Given the description of an element on the screen output the (x, y) to click on. 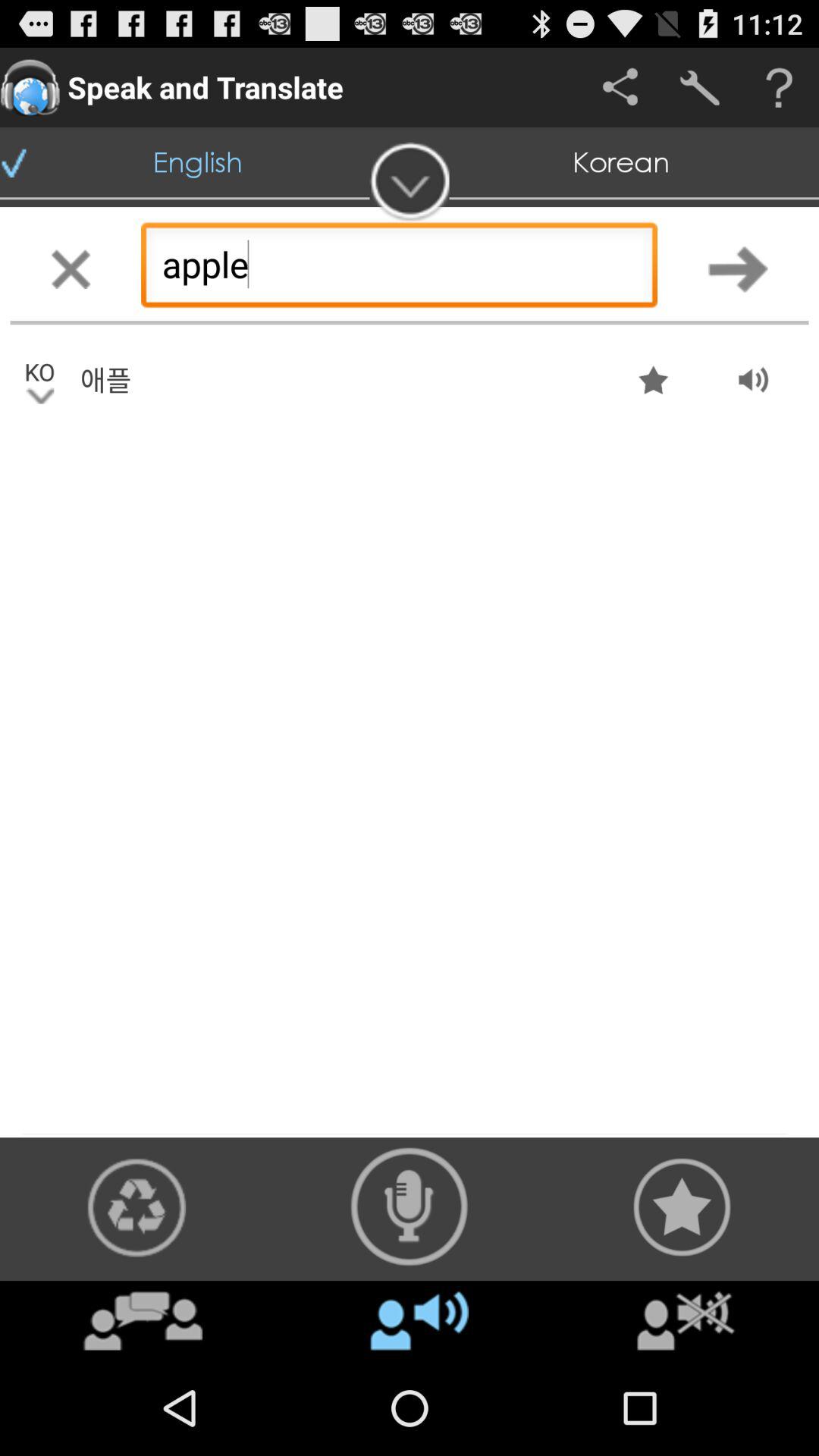
input search (738, 268)
